Given the description of an element on the screen output the (x, y) to click on. 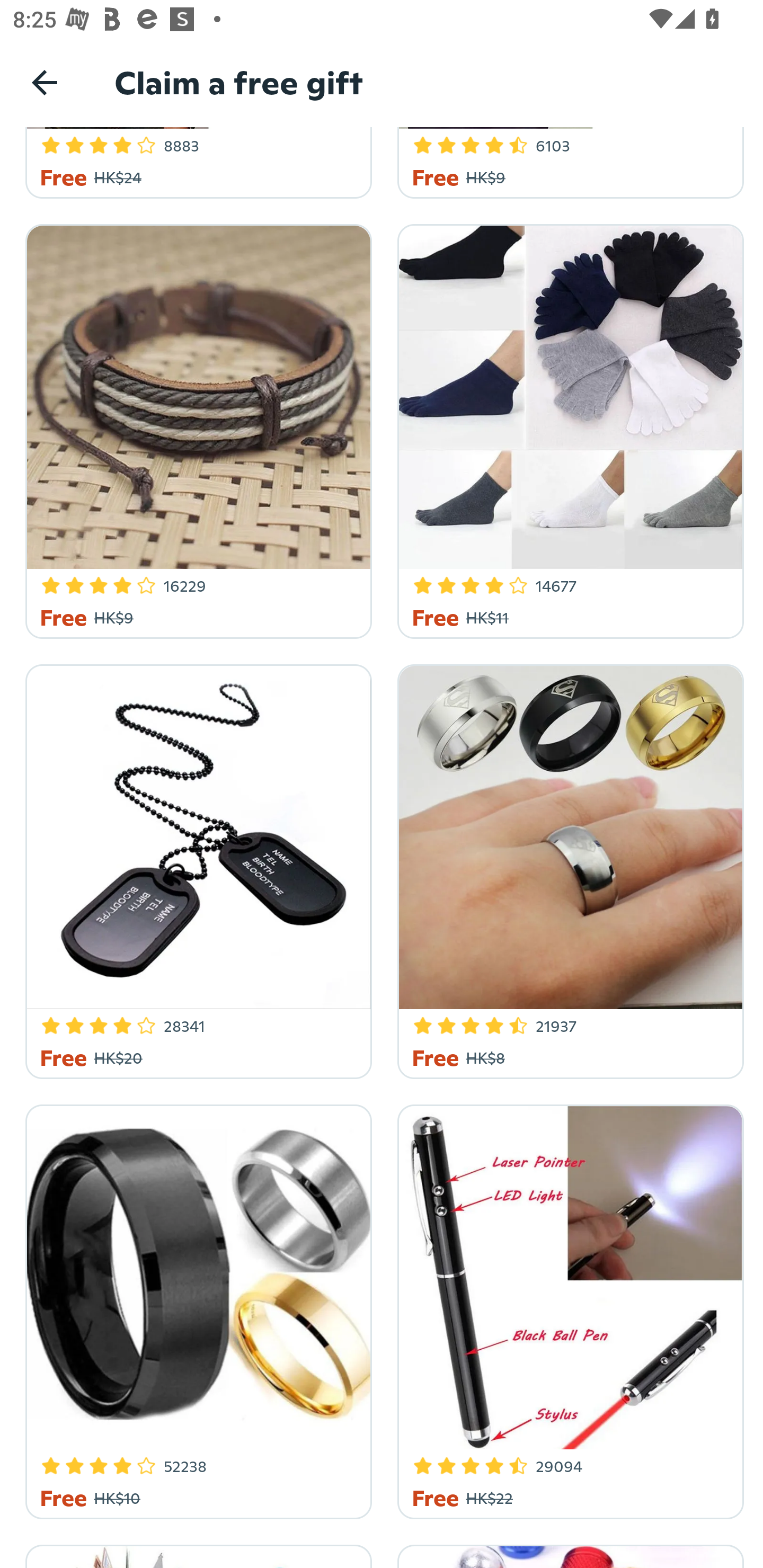
Navigate up (44, 82)
4.2 Star Rating 8883 Free HK$24 (195, 163)
4.4 Star Rating 6103 Free HK$9 (566, 163)
3.8 Star Rating 16229 Free HK$9 (195, 427)
4.2 Star Rating 14677 Free HK$11 (566, 427)
4.1 Star Rating 28341 Free HK$20 (195, 868)
4.3 Star Rating 21937 Free HK$8 (566, 868)
4.2 Star Rating 52238 Free HK$10 (195, 1308)
4.3 Star Rating 29094 Free HK$22 (566, 1308)
